Given the description of an element on the screen output the (x, y) to click on. 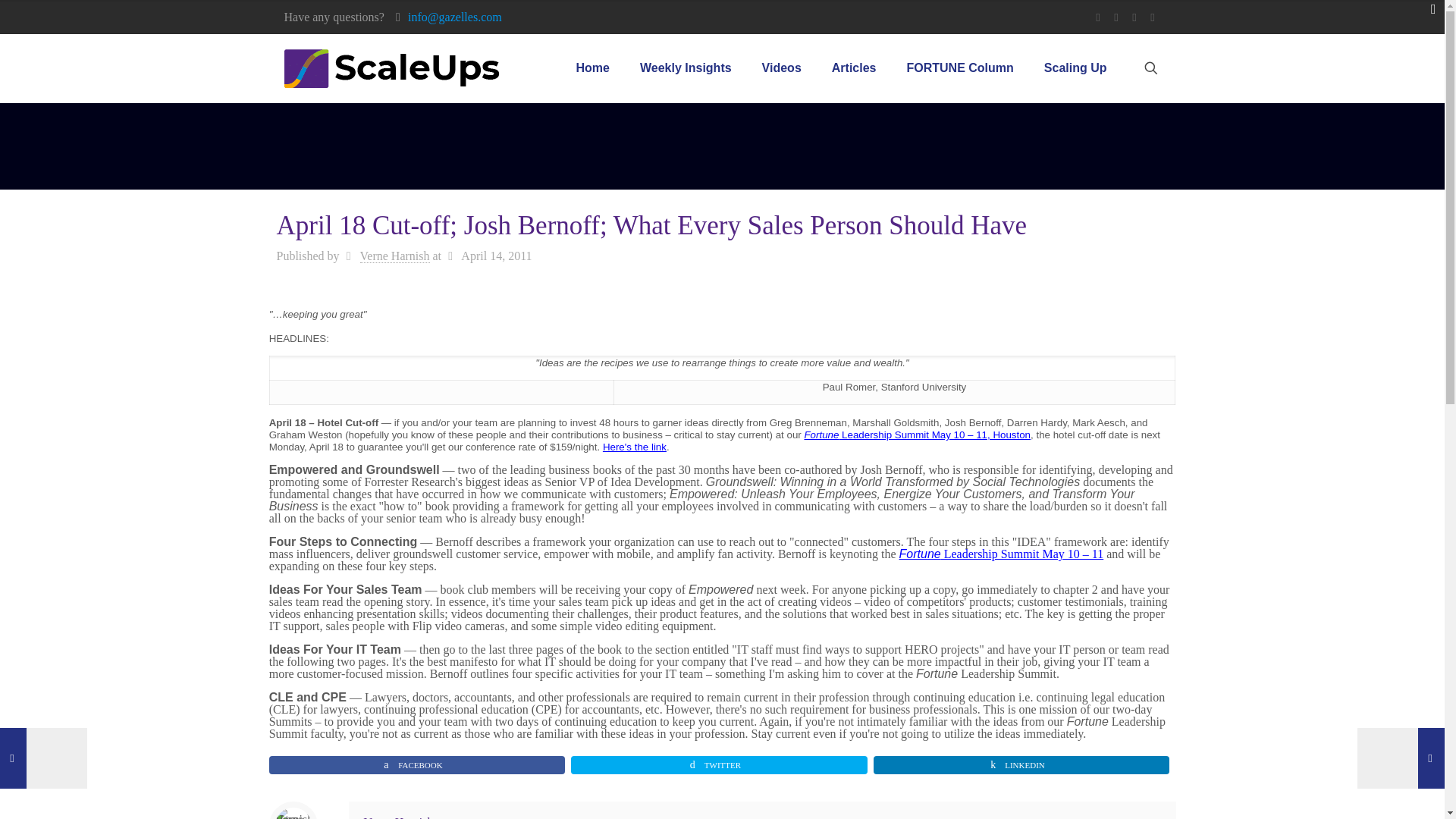
Share on Twitter (718, 764)
Share on Facebook (417, 764)
Home (592, 68)
Facebook (1098, 17)
Weekly Insights (685, 68)
Here's the link (634, 446)
Videos (781, 68)
LINKEDIN (1021, 764)
TWITTER (718, 764)
Verne Harnish (398, 817)
Share on LinkedIn (1021, 764)
FORTUNE Column (959, 68)
LinkedIn (1153, 17)
Scaling Up (1075, 68)
Articles (853, 68)
